Given the description of an element on the screen output the (x, y) to click on. 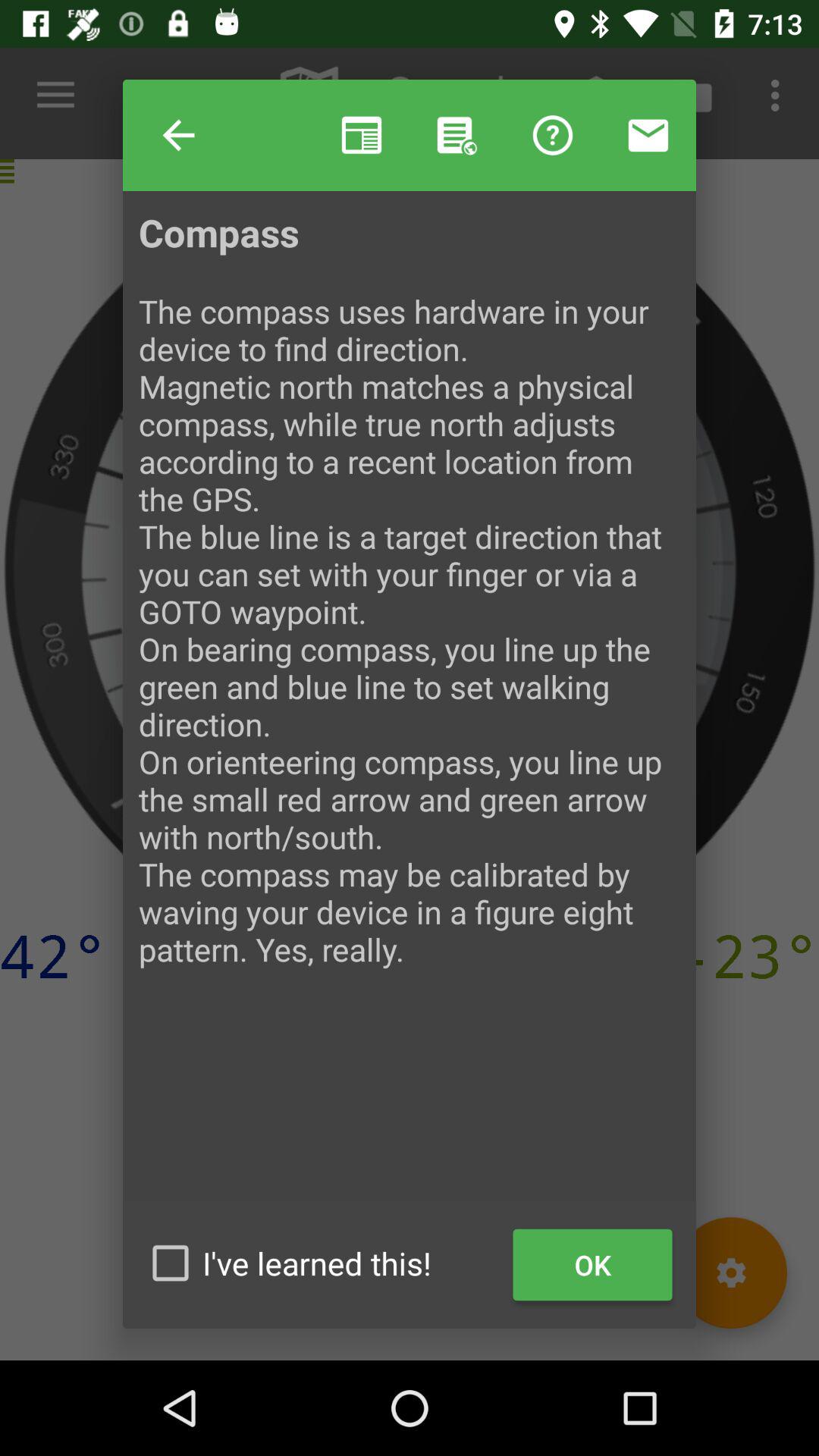
tap item at the top left corner (178, 135)
